Given the description of an element on the screen output the (x, y) to click on. 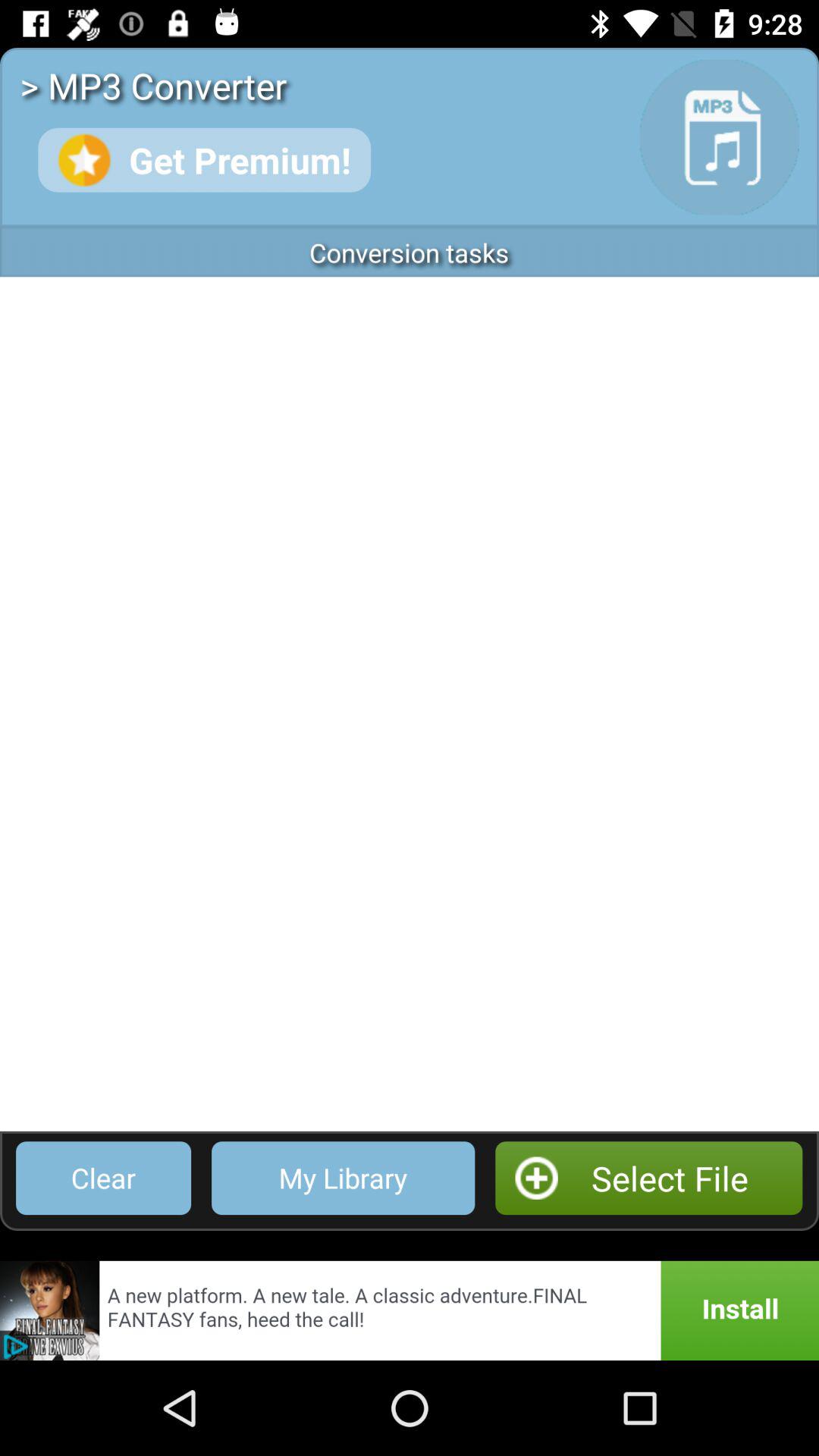
swipe until clear icon (103, 1177)
